Given the description of an element on the screen output the (x, y) to click on. 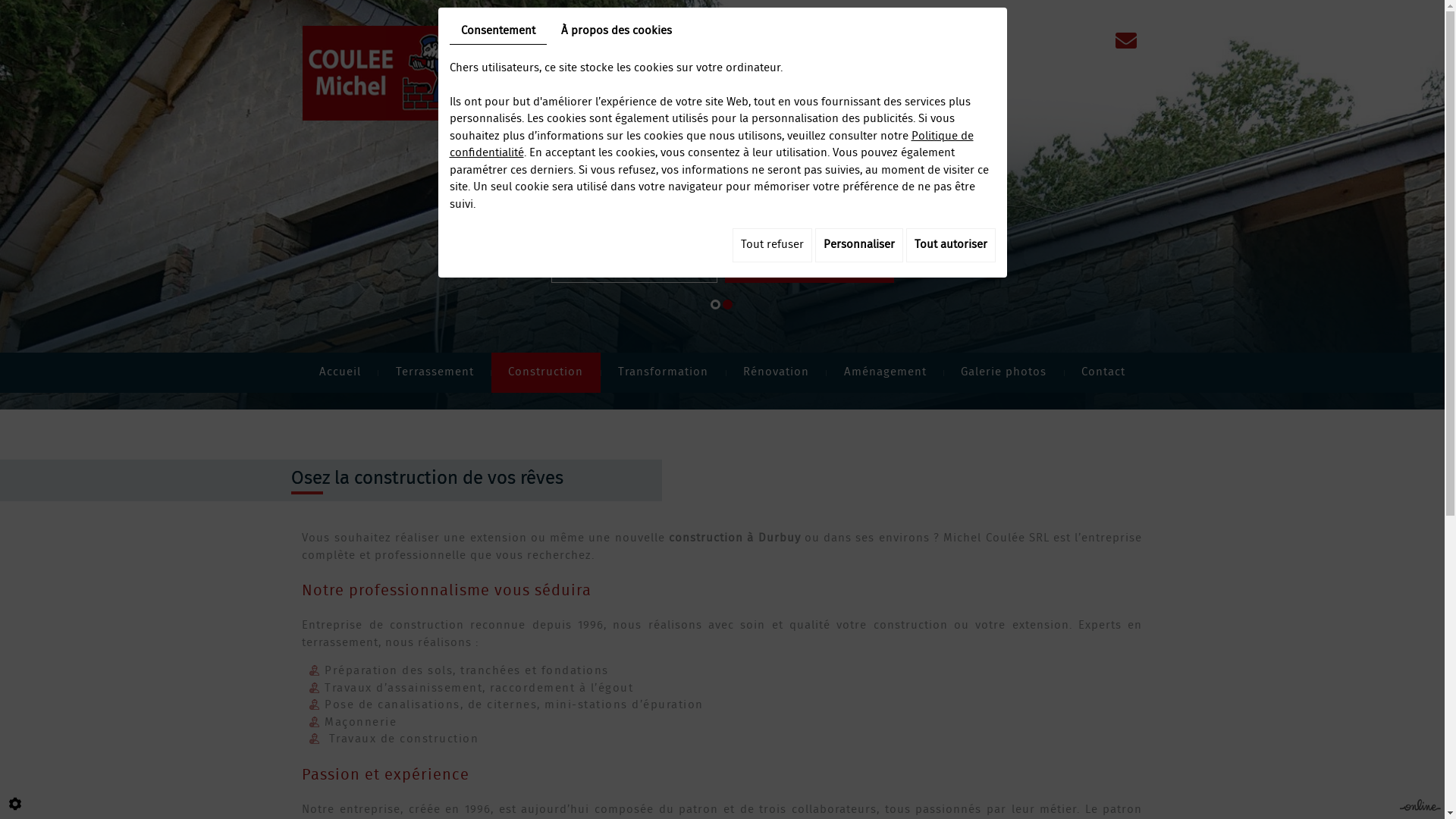
Accueil Element type: text (339, 372)
Tout autoriser Element type: text (949, 245)
Contact Element type: text (1103, 372)
Transformation Element type: text (663, 372)
Personnaliser Element type: text (858, 245)
Terrassement Element type: text (434, 372)
Tout refuser Element type: text (772, 245)
0475 73 39 58 Element type: text (809, 266)
Construction Element type: text (545, 372)
Consentement Element type: text (497, 31)
CONTACTEZ-MOI AU Element type: text (633, 266)
Galerie photos Element type: text (1003, 372)
